Given the description of an element on the screen output the (x, y) to click on. 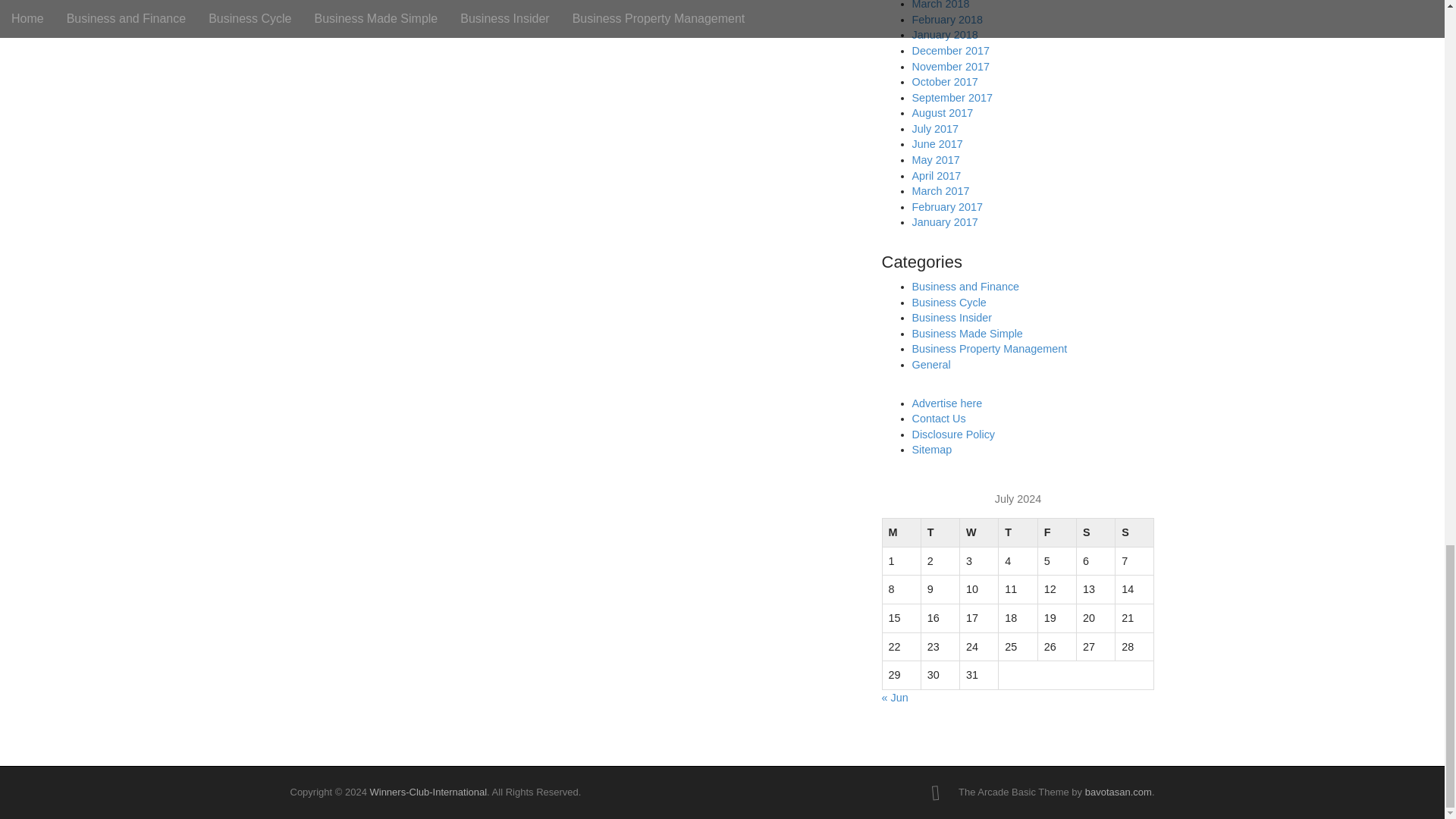
Sunday (1134, 532)
Tuesday (939, 532)
Friday (1055, 532)
Monday (901, 532)
Thursday (1017, 532)
Wednesday (978, 532)
Saturday (1095, 532)
